Given the description of an element on the screen output the (x, y) to click on. 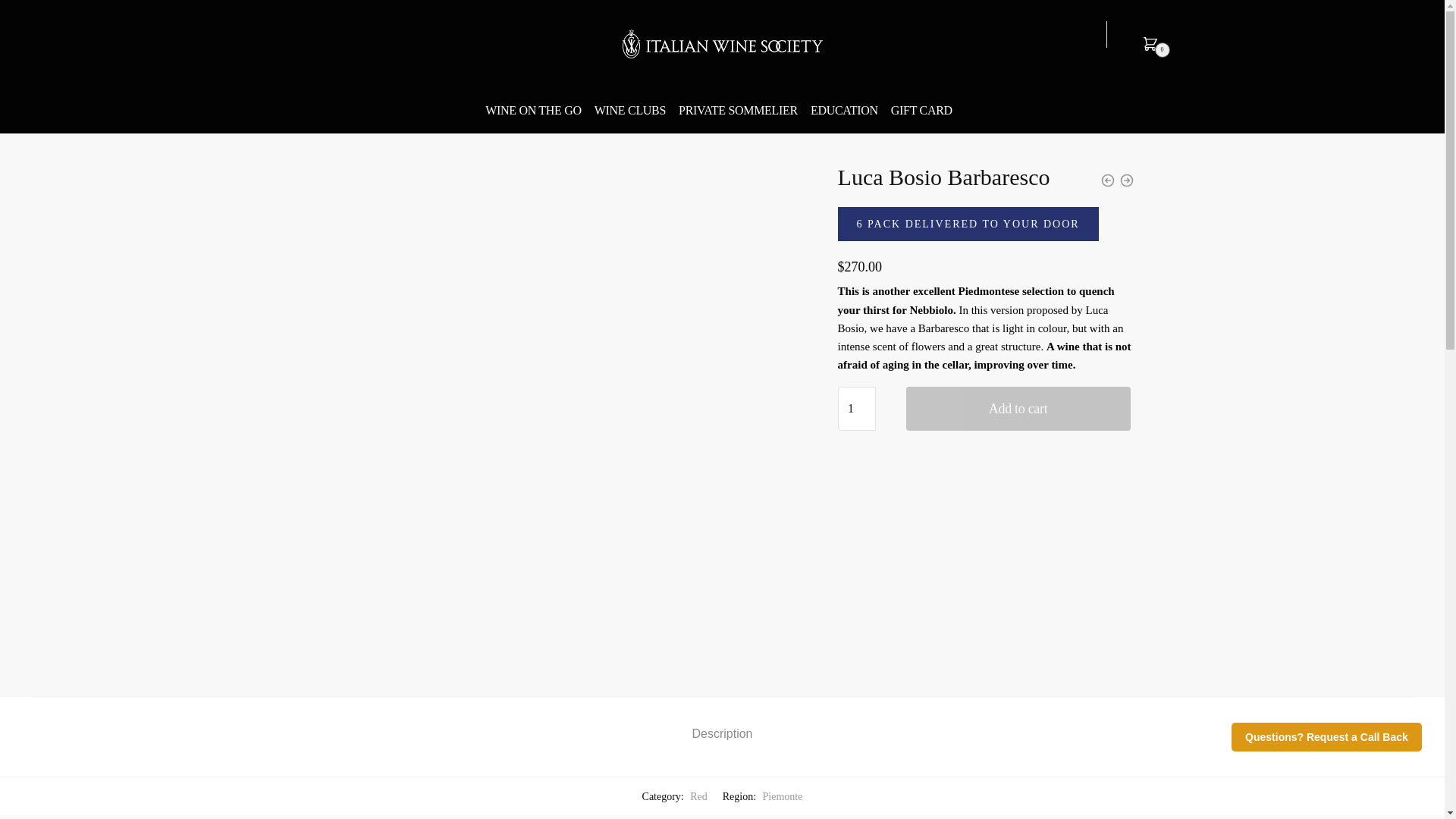
WINE CLUBS (629, 110)
Add to cart (1018, 408)
Piemonte (782, 796)
EDUCATION (844, 110)
Red (698, 796)
Questions? Request a Call Back (1326, 736)
WINE ON THE GO (536, 110)
GIFT CARD (921, 110)
Description (721, 721)
PRIVATE SOMMELIER (737, 110)
